Given the description of an element on the screen output the (x, y) to click on. 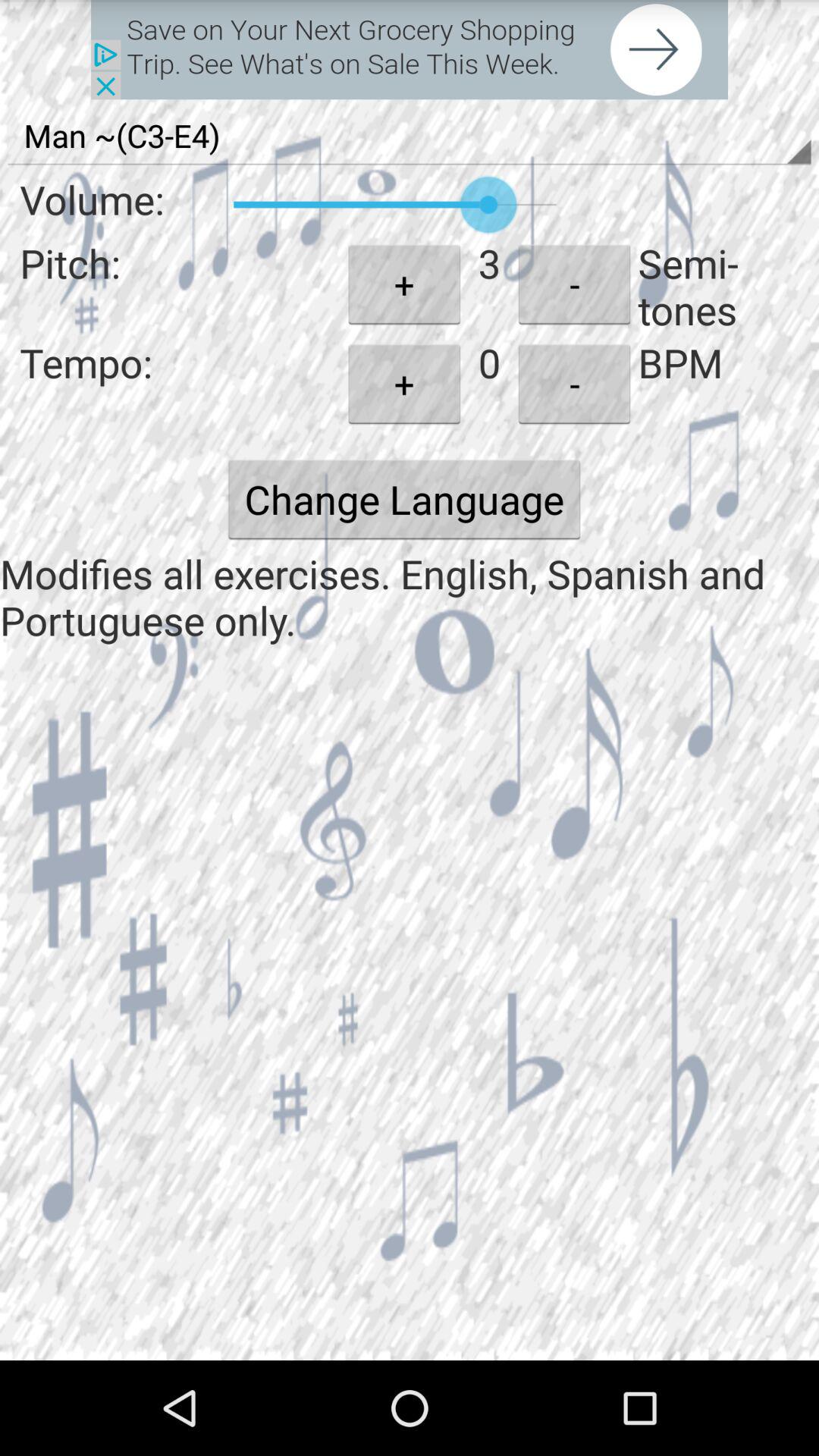
click to see what 's on sale (409, 49)
